Given the description of an element on the screen output the (x, y) to click on. 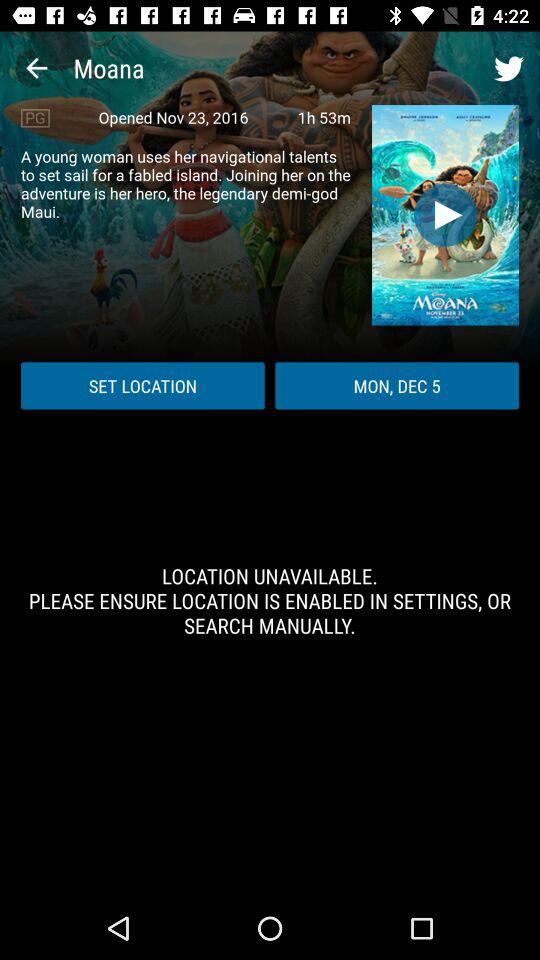
jump to set location item (142, 385)
